Given the description of an element on the screen output the (x, y) to click on. 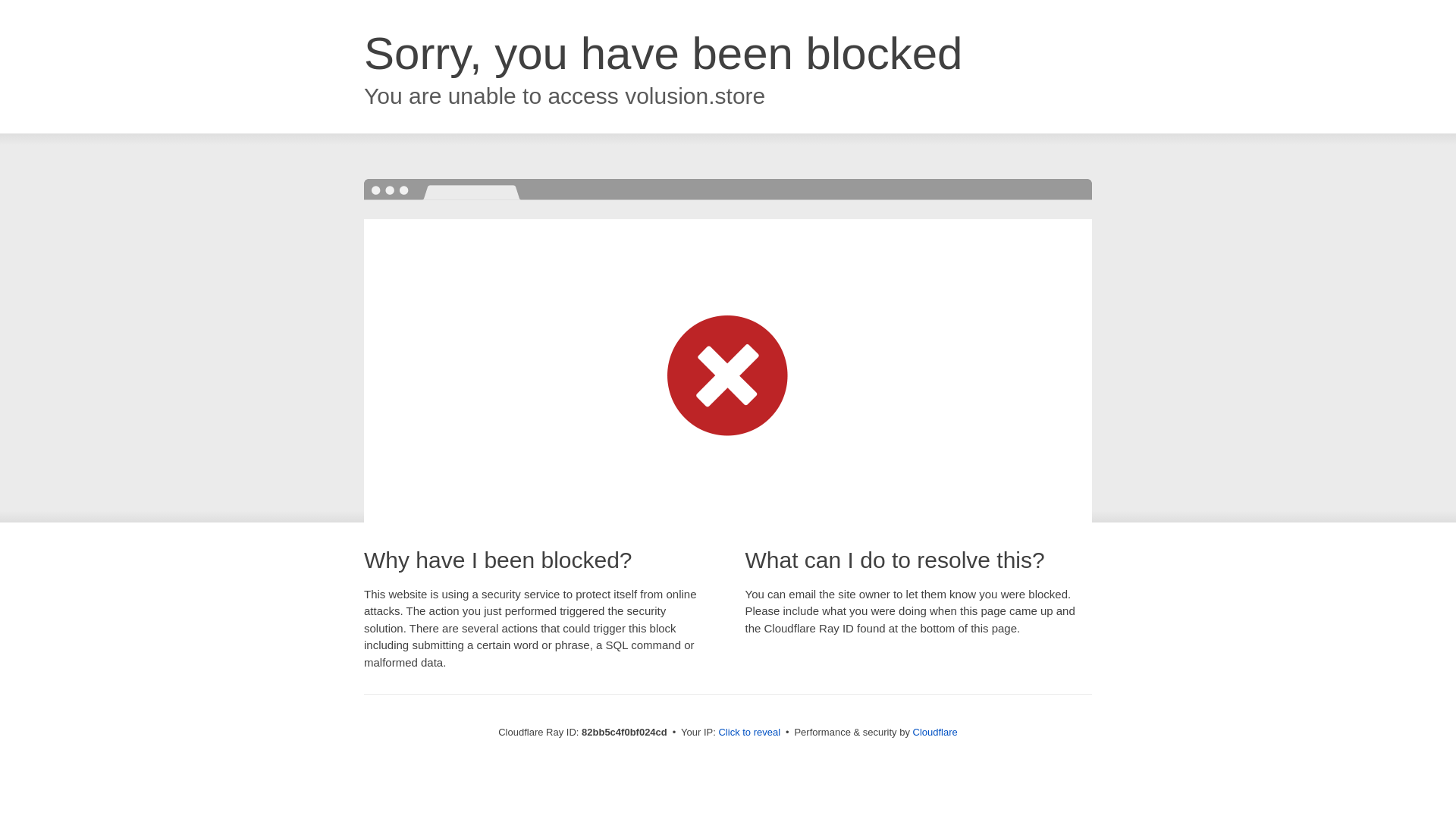
Cloudflare Element type: text (935, 731)
Click to reveal Element type: text (749, 732)
